Given the description of an element on the screen output the (x, y) to click on. 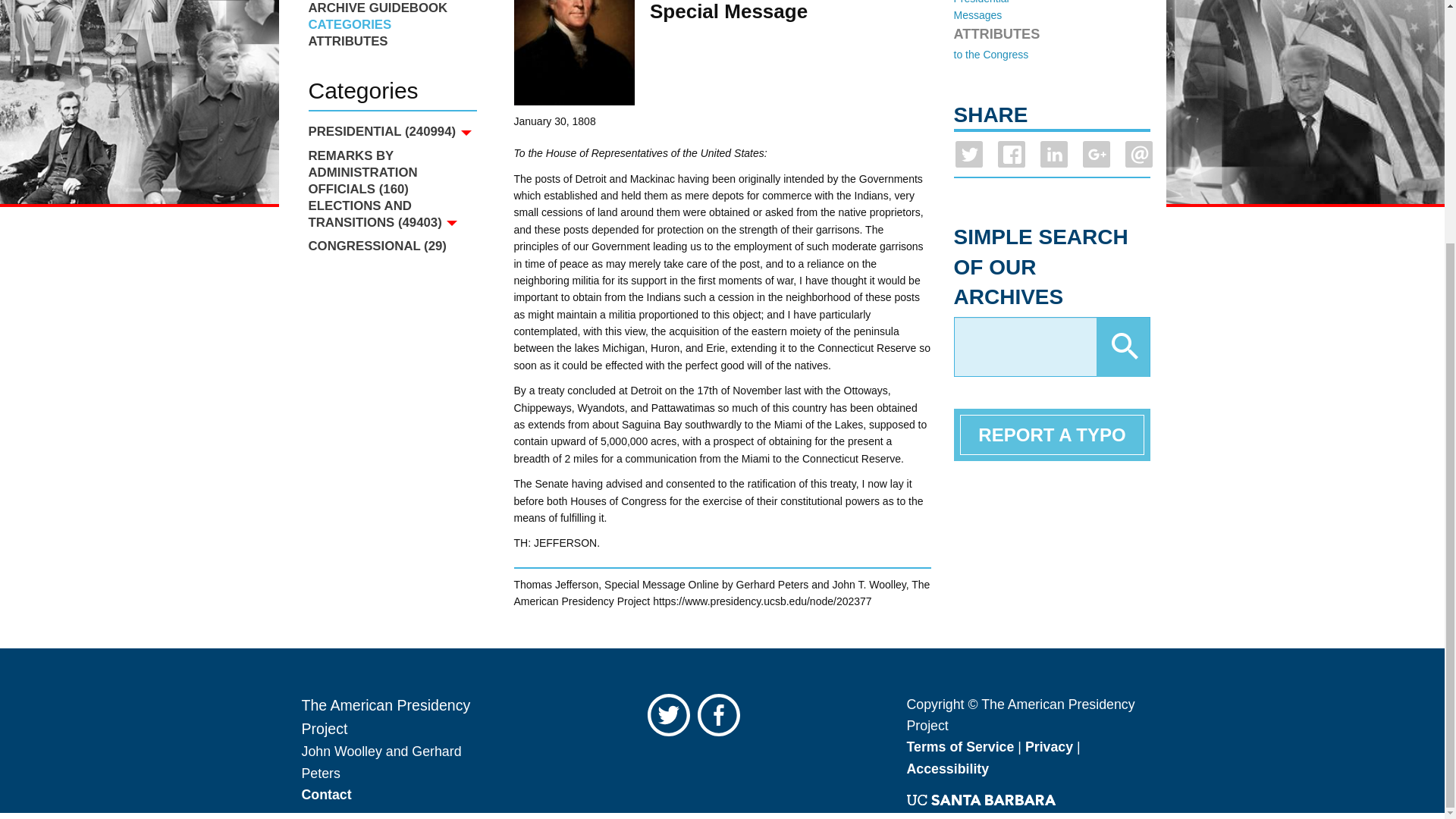
ATTRIBUTES (391, 41)
ARCHIVE GUIDEBOOK (391, 8)
CATEGORIES (391, 24)
